Given the description of an element on the screen output the (x, y) to click on. 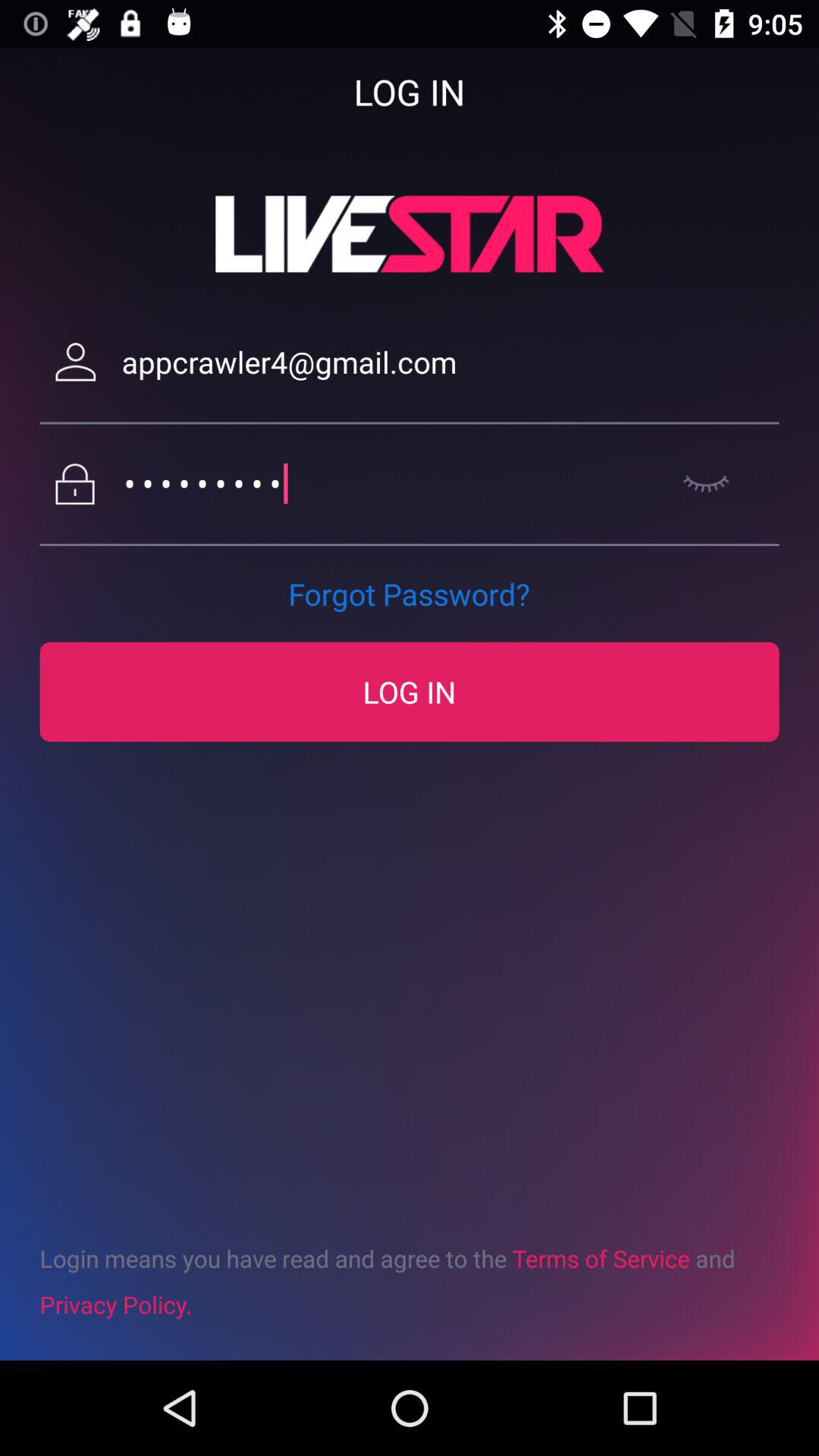
select login means you icon (409, 1281)
